Given the description of an element on the screen output the (x, y) to click on. 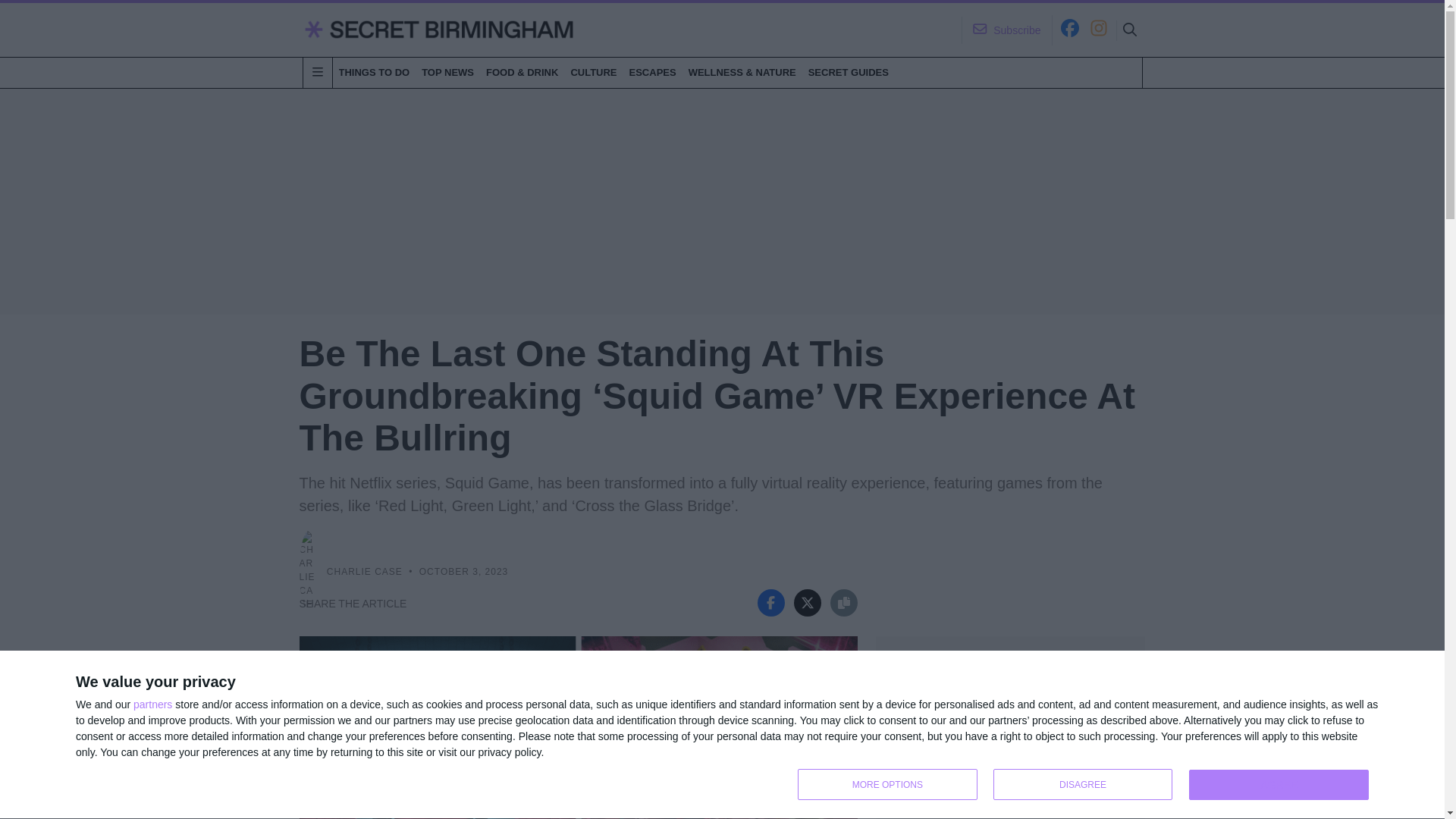
SECRET GUIDES (848, 72)
THINGS TO DO (373, 72)
CULTURE (592, 72)
CHARLIE CASE (364, 571)
ESCAPES (652, 72)
partners (152, 704)
MORE OPTIONS (886, 784)
AGREE (1278, 784)
TOP NEWS (1086, 785)
DISAGREE (448, 72)
